Given the description of an element on the screen output the (x, y) to click on. 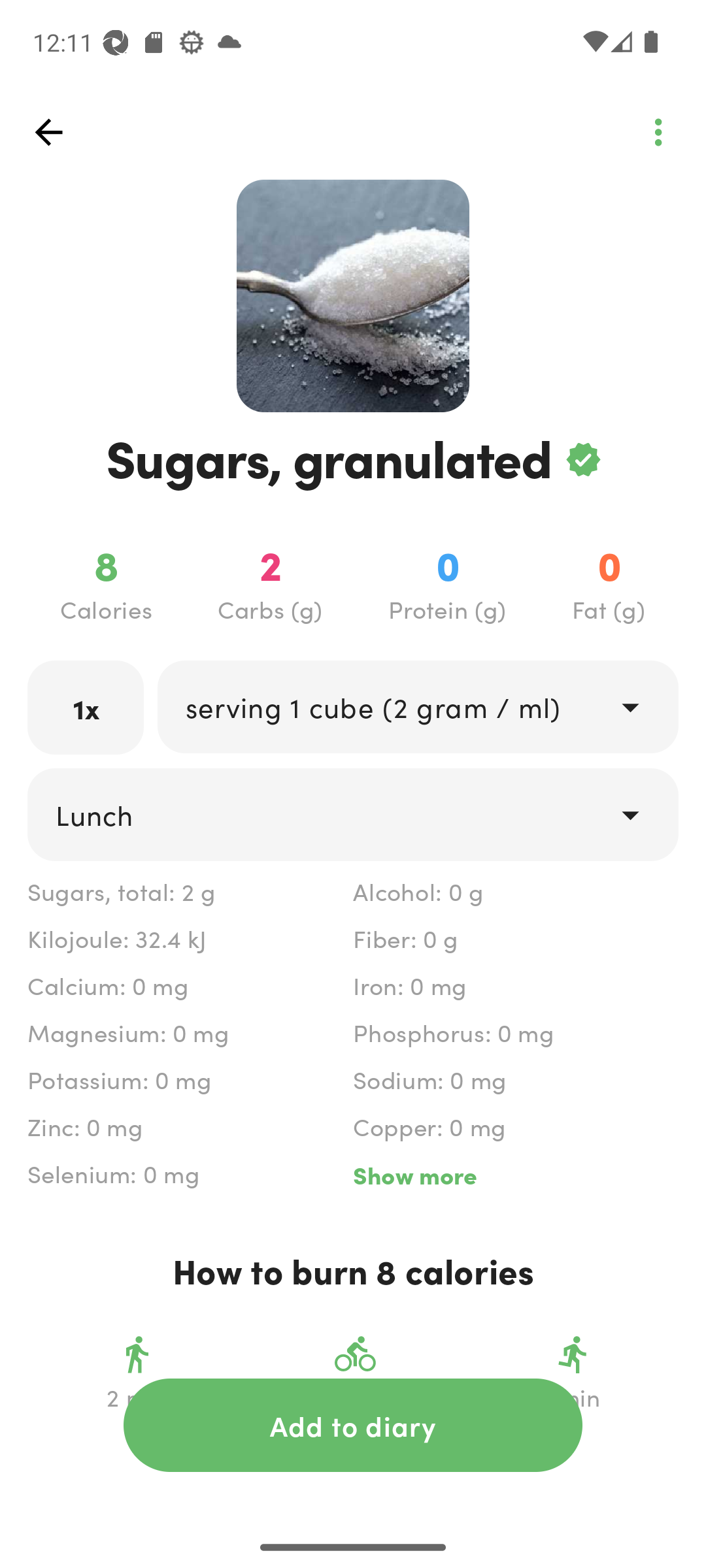
top_left_action (48, 132)
top_left_action (658, 132)
1x labeled_edit_text (85, 707)
drop_down serving 1 cube (2 gram / ml) (417, 706)
drop_down Lunch (352, 814)
Show more (515, 1174)
action_button Add to diary (352, 1425)
